Given the description of an element on the screen output the (x, y) to click on. 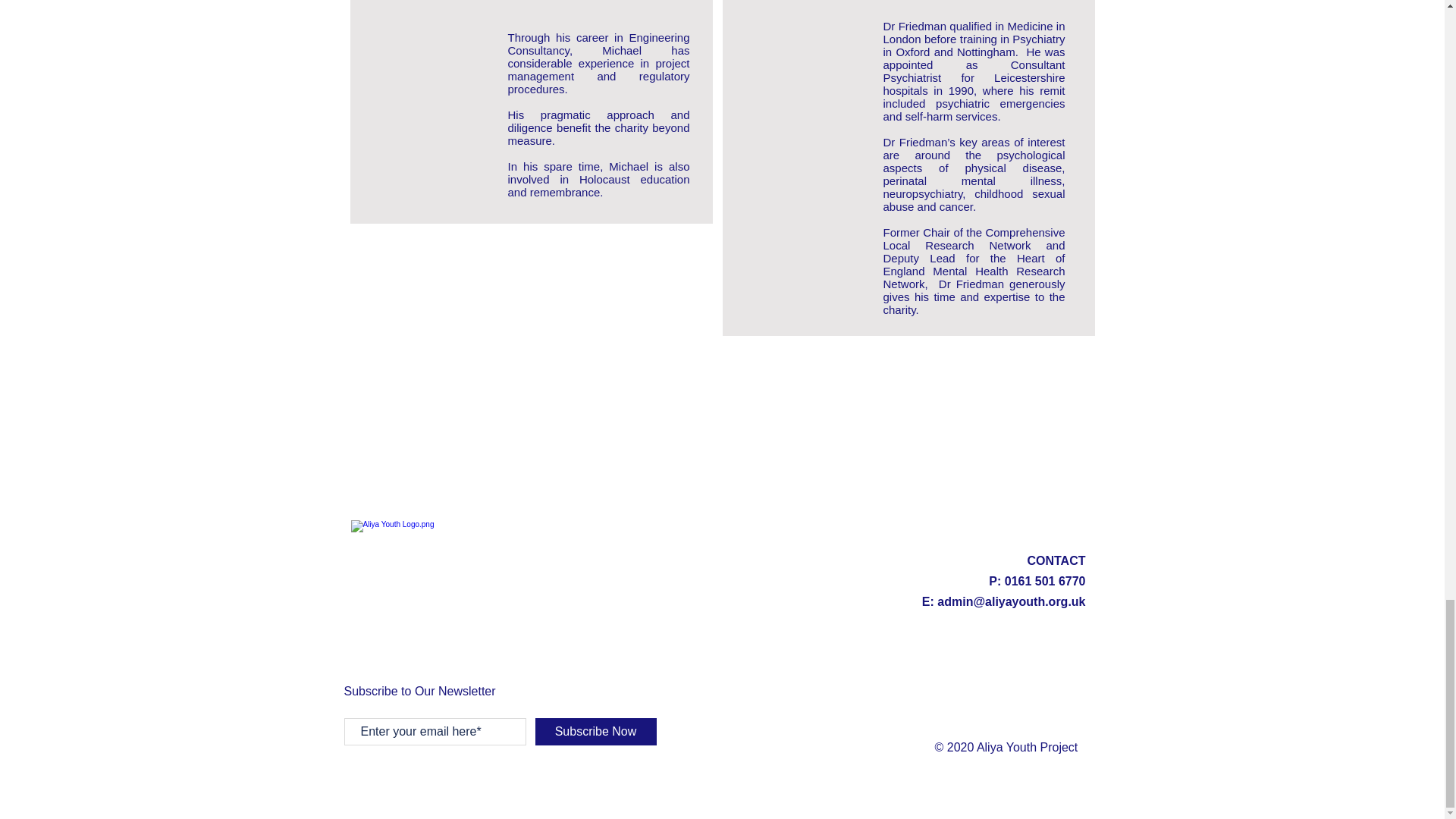
Subscribe Now (595, 731)
